Given the description of an element on the screen output the (x, y) to click on. 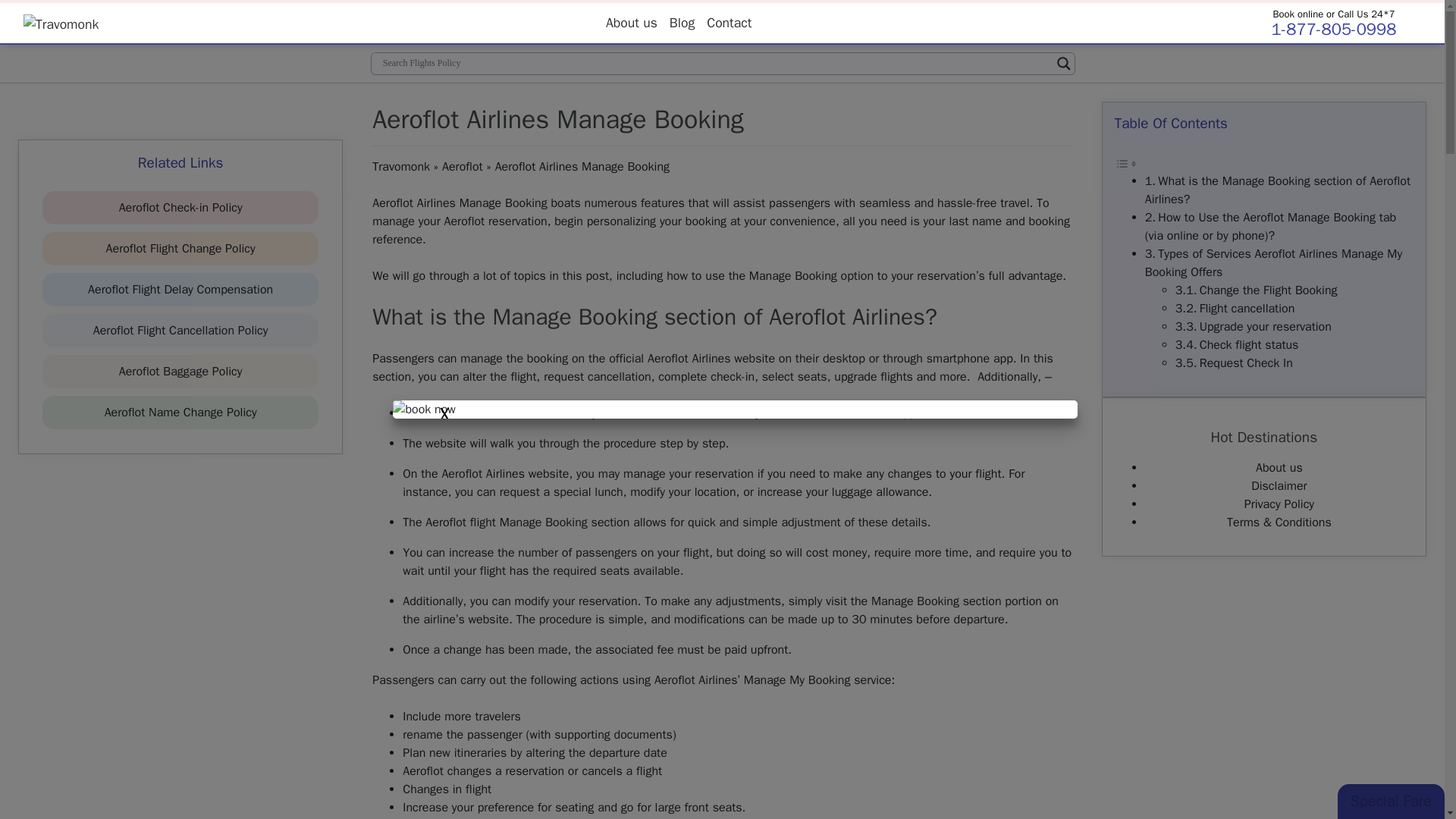
Aeroflot Flight Delay Compensation (180, 289)
Aeroflot Check-in Policy (181, 207)
Aeroflot (462, 166)
Aeroflot Baggage Policy (181, 371)
Blog (681, 22)
Travomonk (400, 166)
About us (631, 22)
Aeroflot Name Change Policy (180, 412)
Blog (681, 22)
Contact (728, 22)
